Given the description of an element on the screen output the (x, y) to click on. 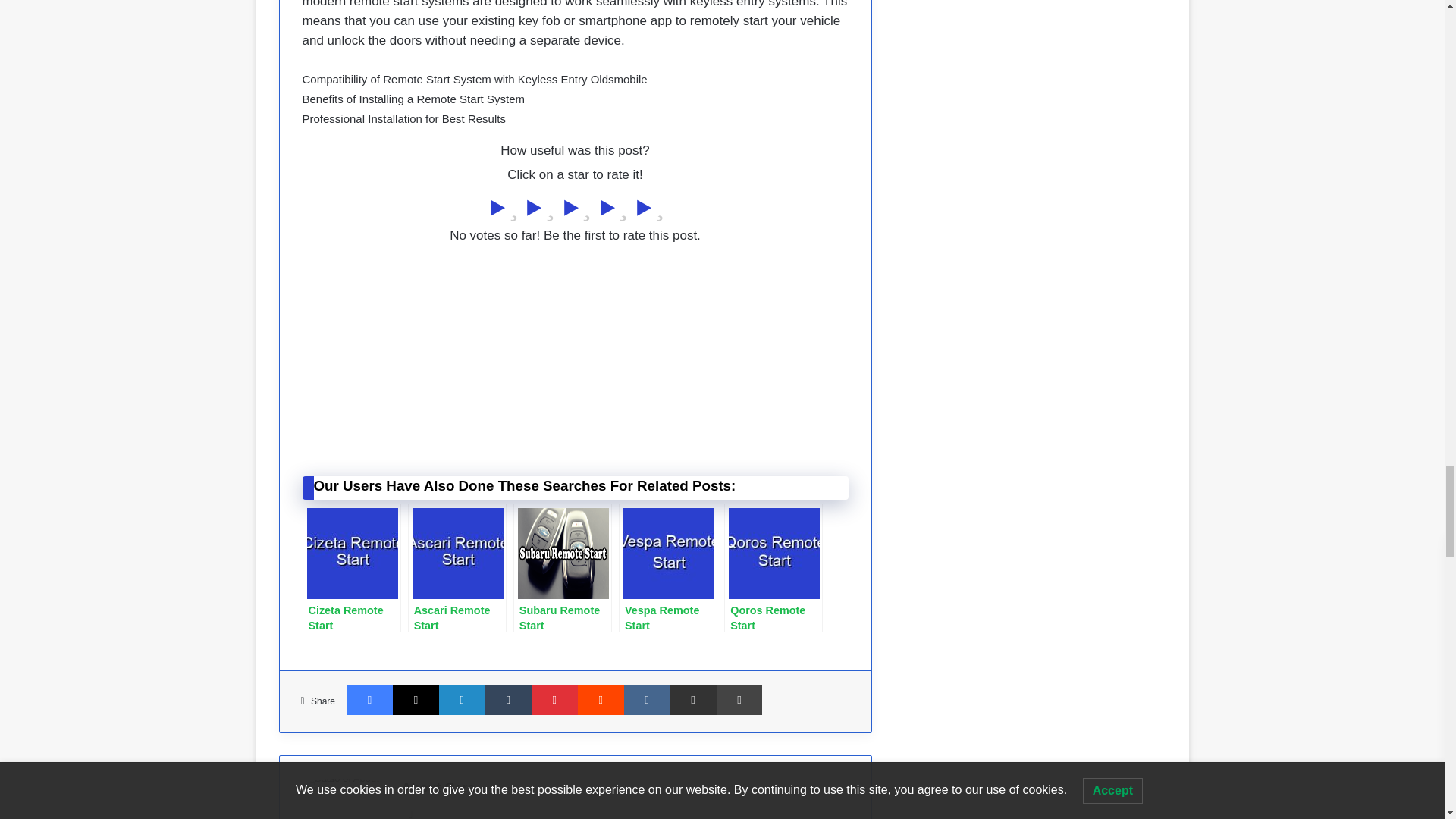
LinkedIn (461, 699)
Facebook (369, 699)
X (416, 699)
Pinterest (554, 699)
Reddit (601, 699)
Tumblr (507, 699)
LinkedIn (461, 699)
Tumblr (507, 699)
Facebook (369, 699)
Pinterest (554, 699)
X (416, 699)
